Given the description of an element on the screen output the (x, y) to click on. 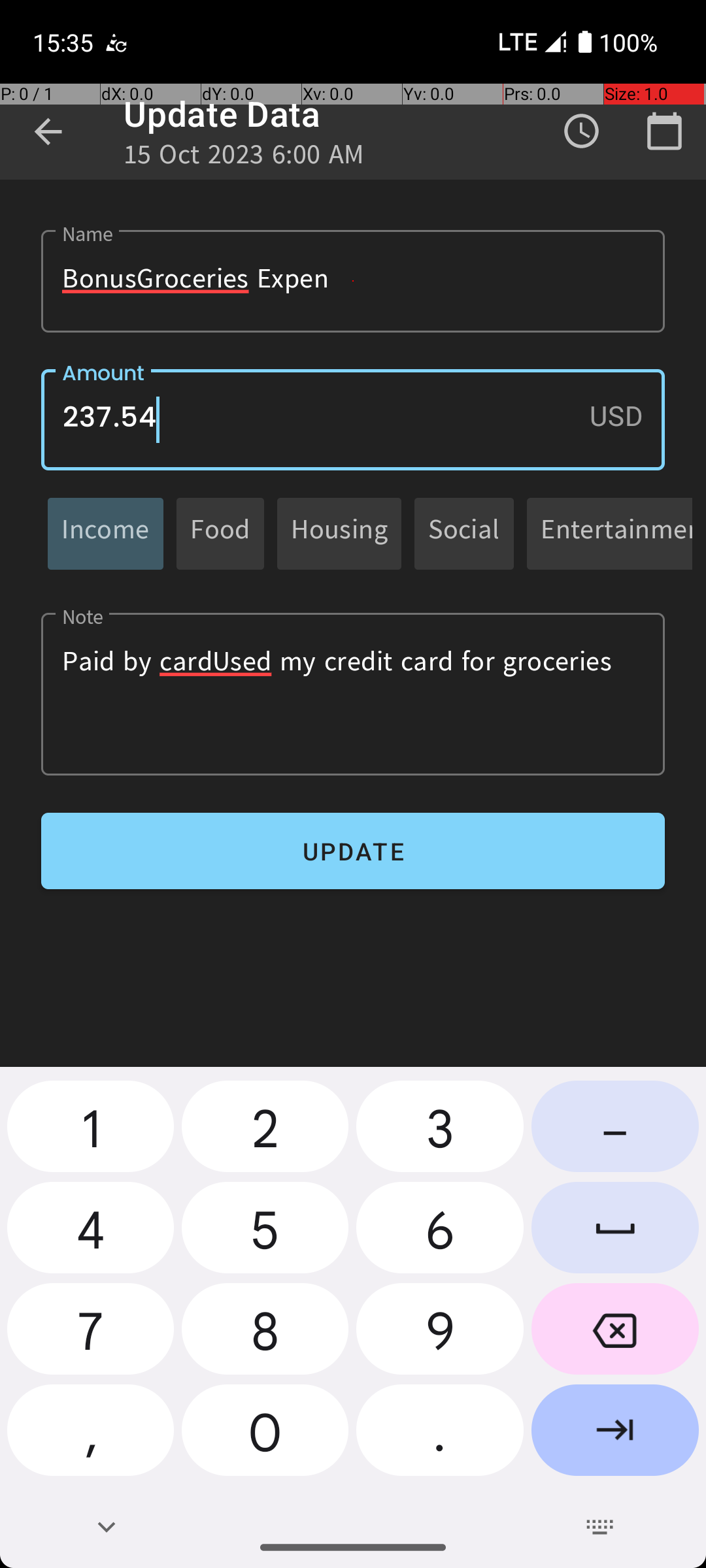
15 Oct 2023 6:00 AM Element type: android.widget.TextView (243, 157)
BonusGroceries Expen Element type: android.widget.EditText (352, 280)
237.54 Element type: android.widget.EditText (352, 419)
Paid by cardUsed my credit card for groceries
 Element type: android.widget.EditText (352, 693)
